Given the description of an element on the screen output the (x, y) to click on. 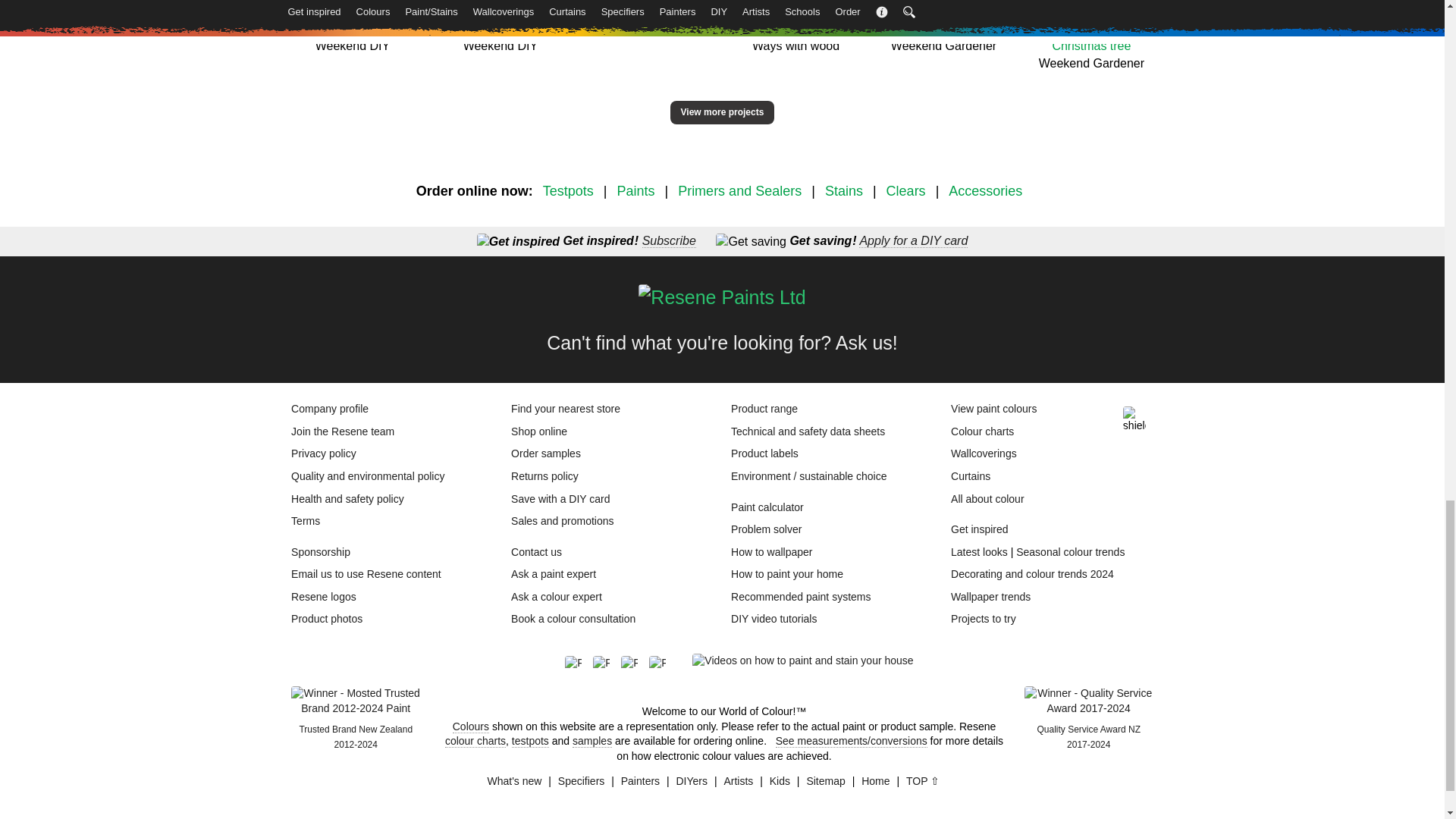
Follow us on Facebook (578, 664)
Follow us on Pinterest (606, 664)
View DIY Videos (802, 661)
Follow us on YouTube (663, 664)
Follow us on Instagram (635, 664)
